Given the description of an element on the screen output the (x, y) to click on. 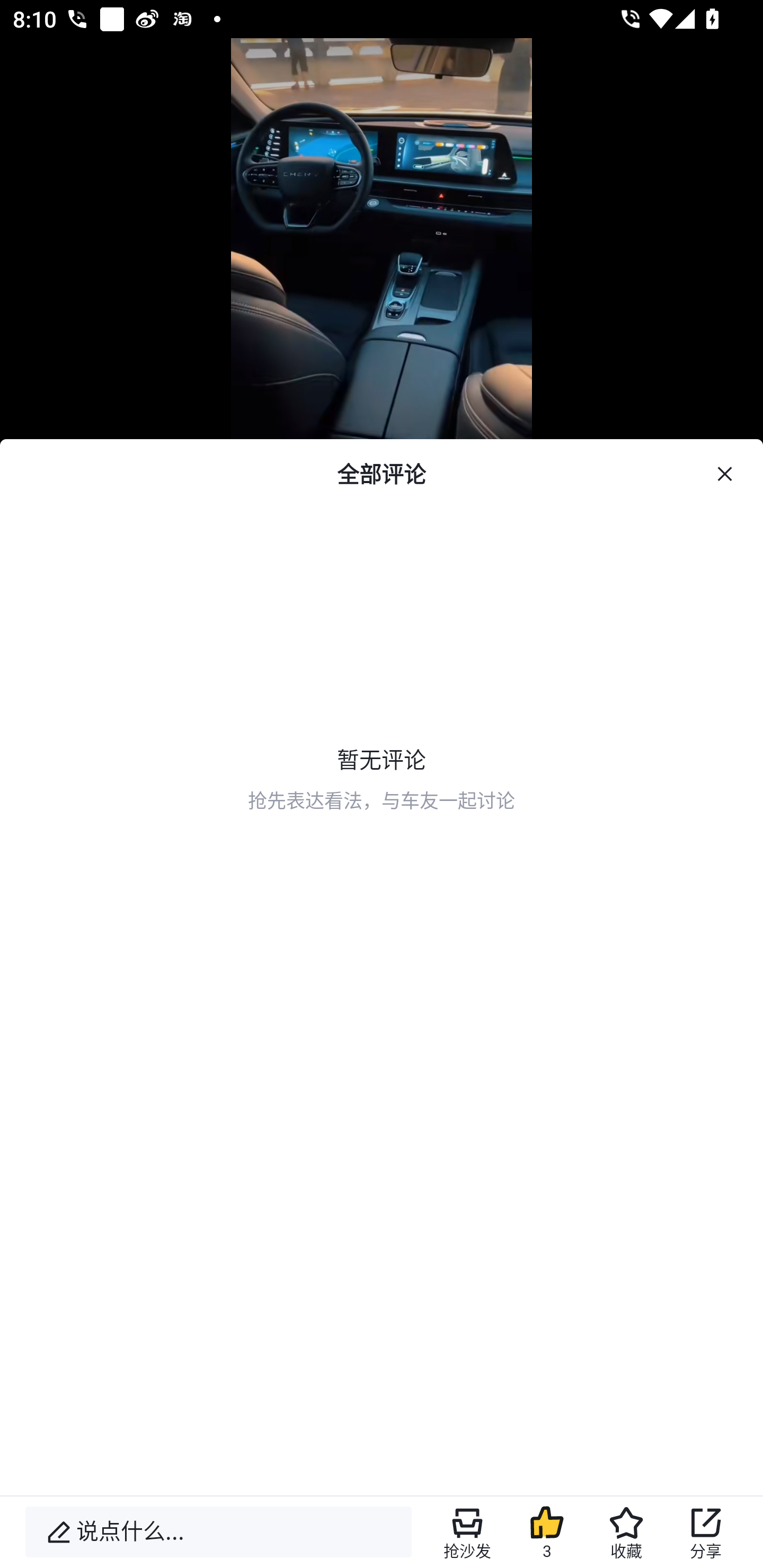
暂无评论 抢先表达看法，与车友一起讨论 (381, 687)
 抢沙发 (467, 1531)
3 (546, 1531)
收藏 (625, 1531)
 分享 (705, 1531)
 说点什么... (218, 1531)
